Given the description of an element on the screen output the (x, y) to click on. 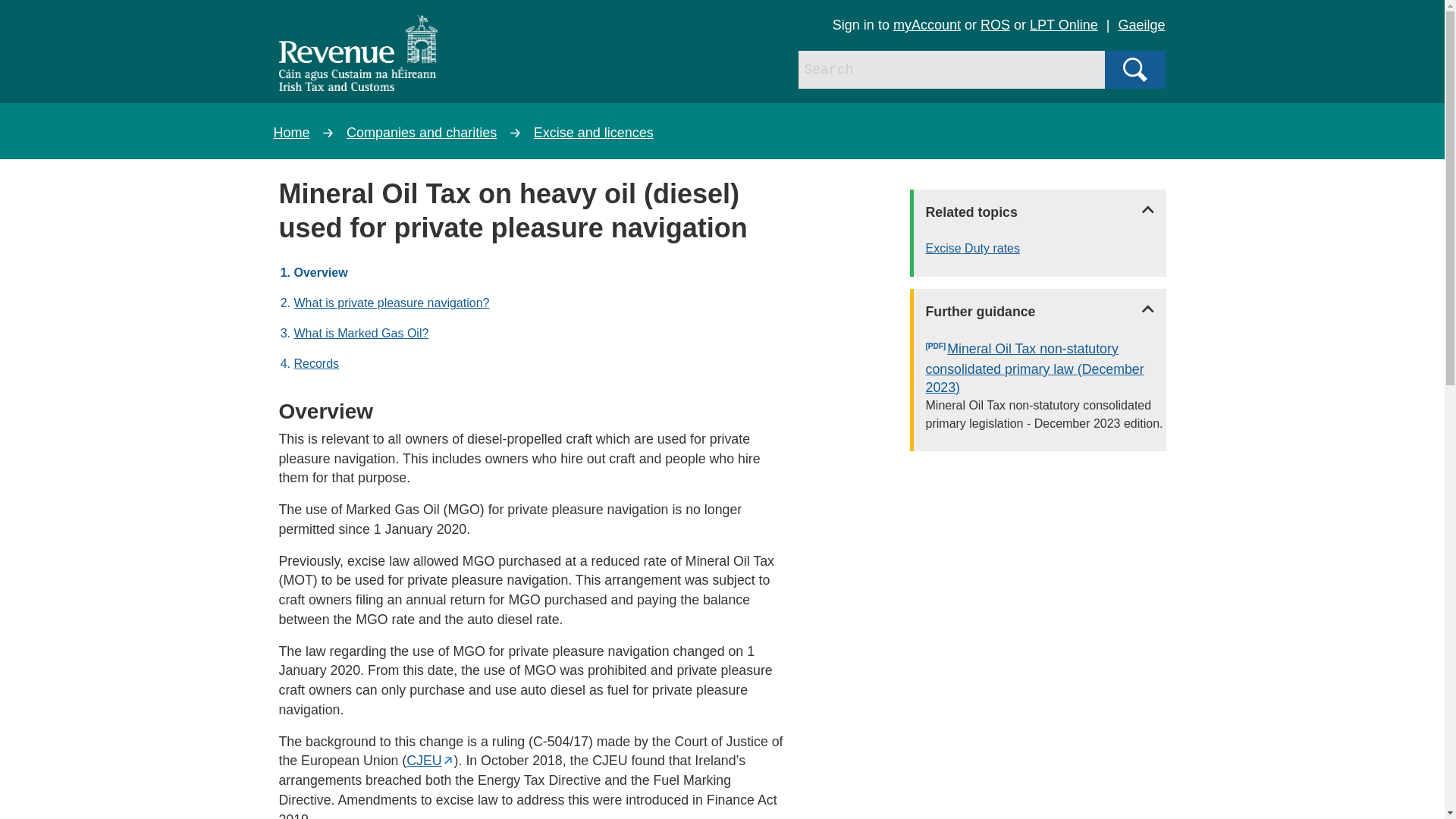
ROS (994, 24)
What is Marked Gas Oil? (361, 332)
LPT Online (1063, 24)
Go to Excise and licences  from here (593, 131)
Companies and charities (421, 131)
Excise and licences (593, 131)
Records (316, 363)
Further guidance (1040, 311)
Excise Duty rates (1046, 248)
What is Marked Gas Oil? (361, 332)
